Given the description of an element on the screen output the (x, y) to click on. 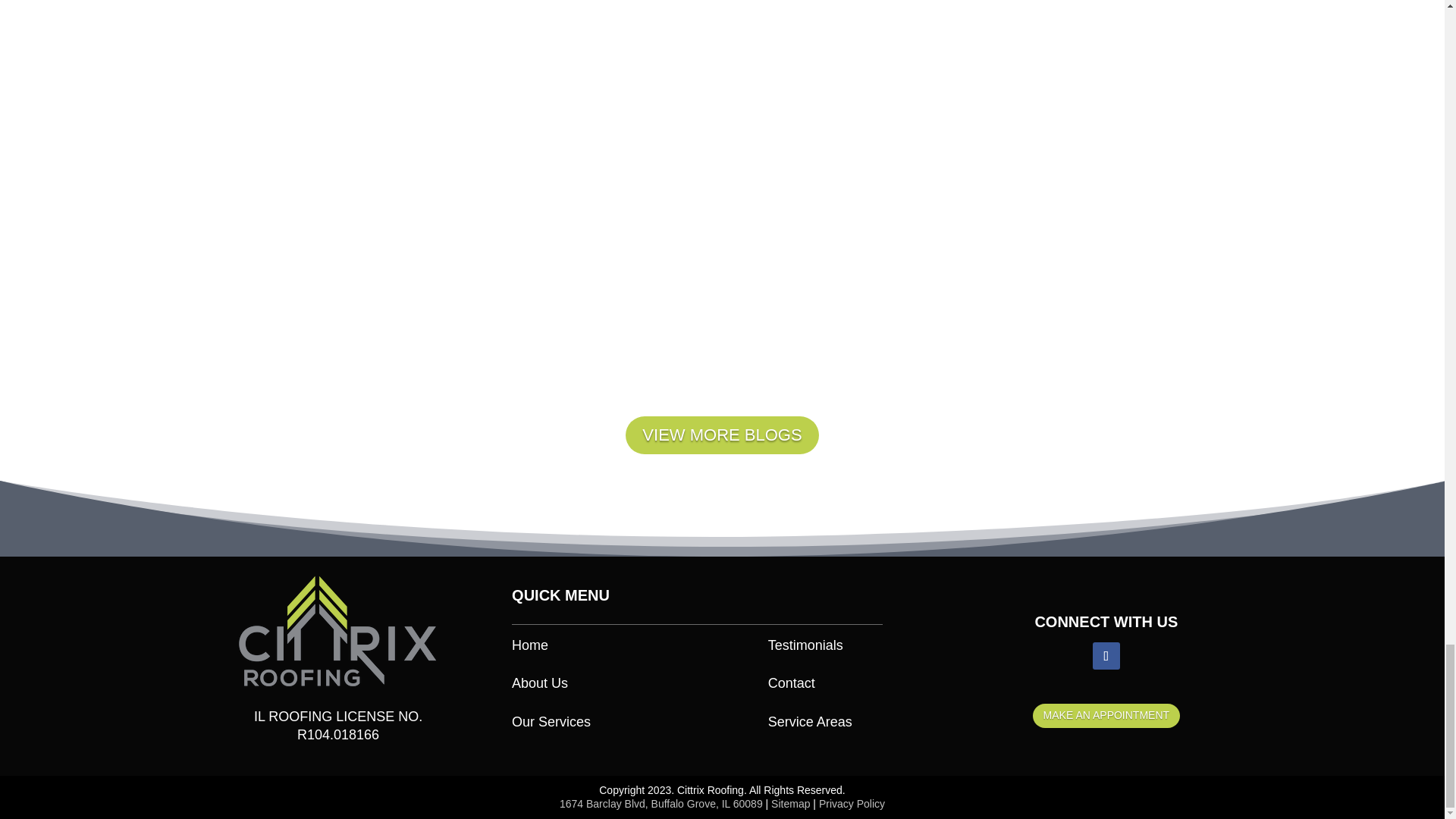
Follow on Facebook (1106, 655)
